Given the description of an element on the screen output the (x, y) to click on. 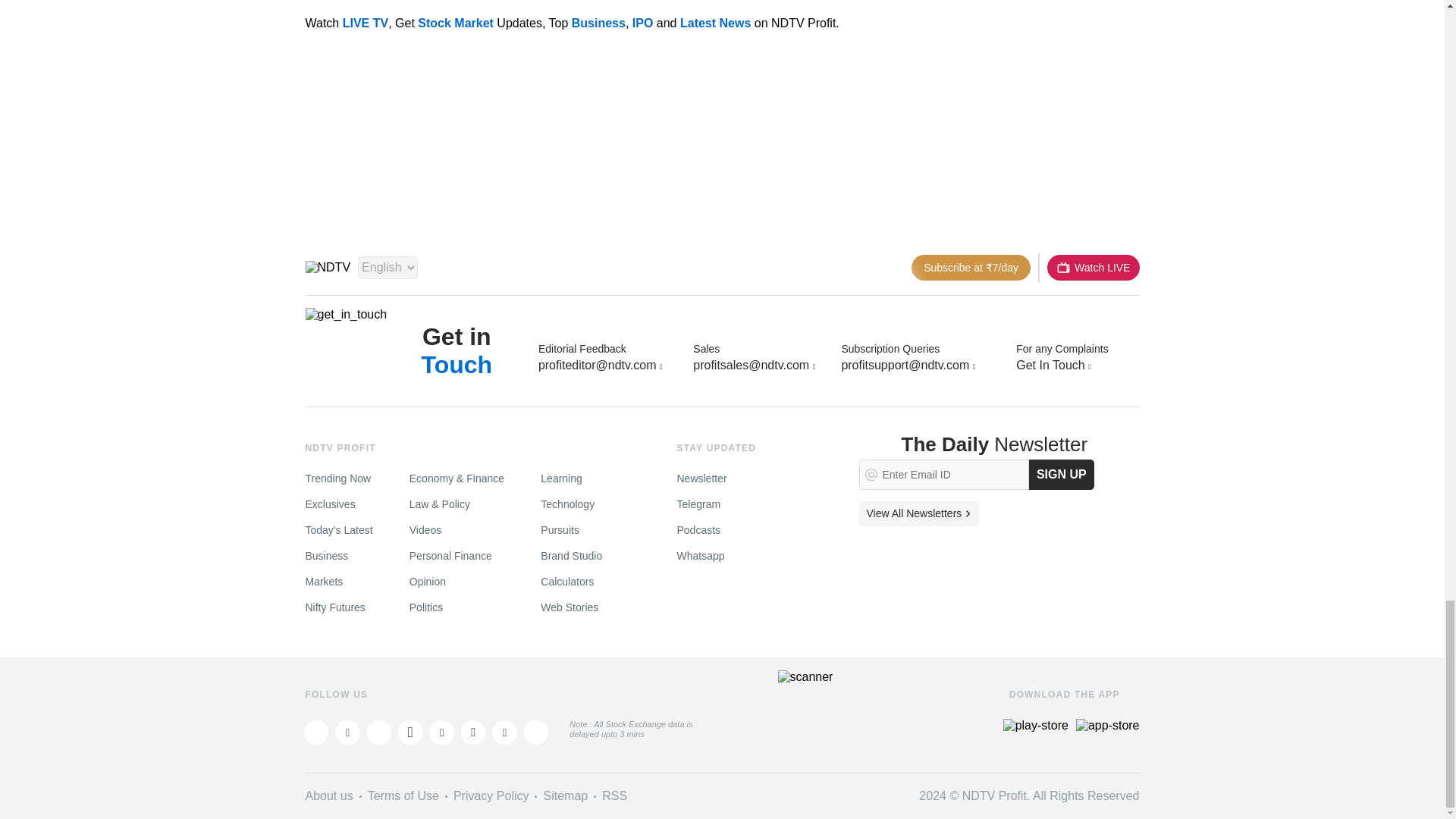
Live TV (1092, 267)
